Given the description of an element on the screen output the (x, y) to click on. 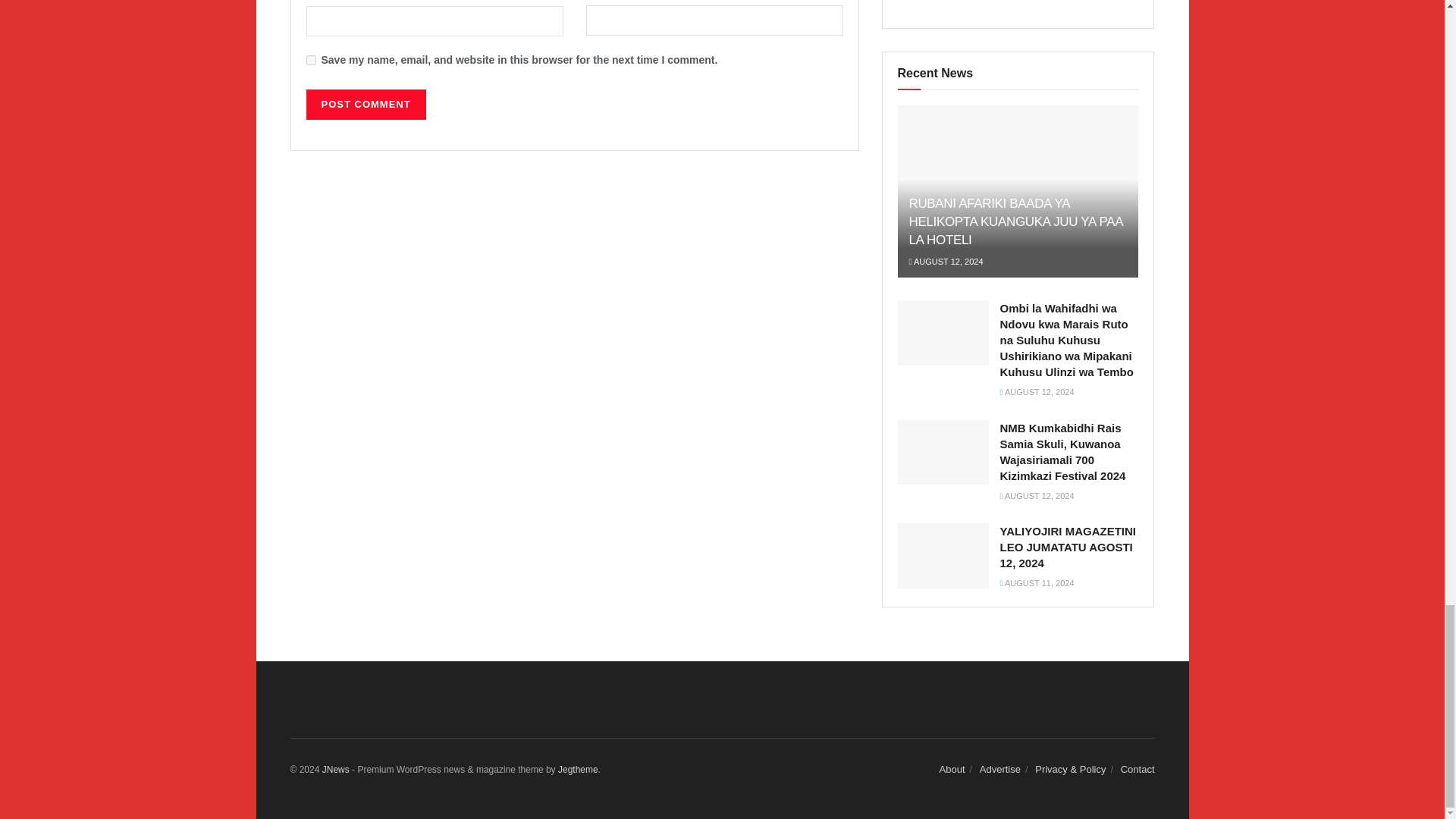
Post Comment (365, 104)
Jegtheme (577, 769)
yes (310, 60)
